Given the description of an element on the screen output the (x, y) to click on. 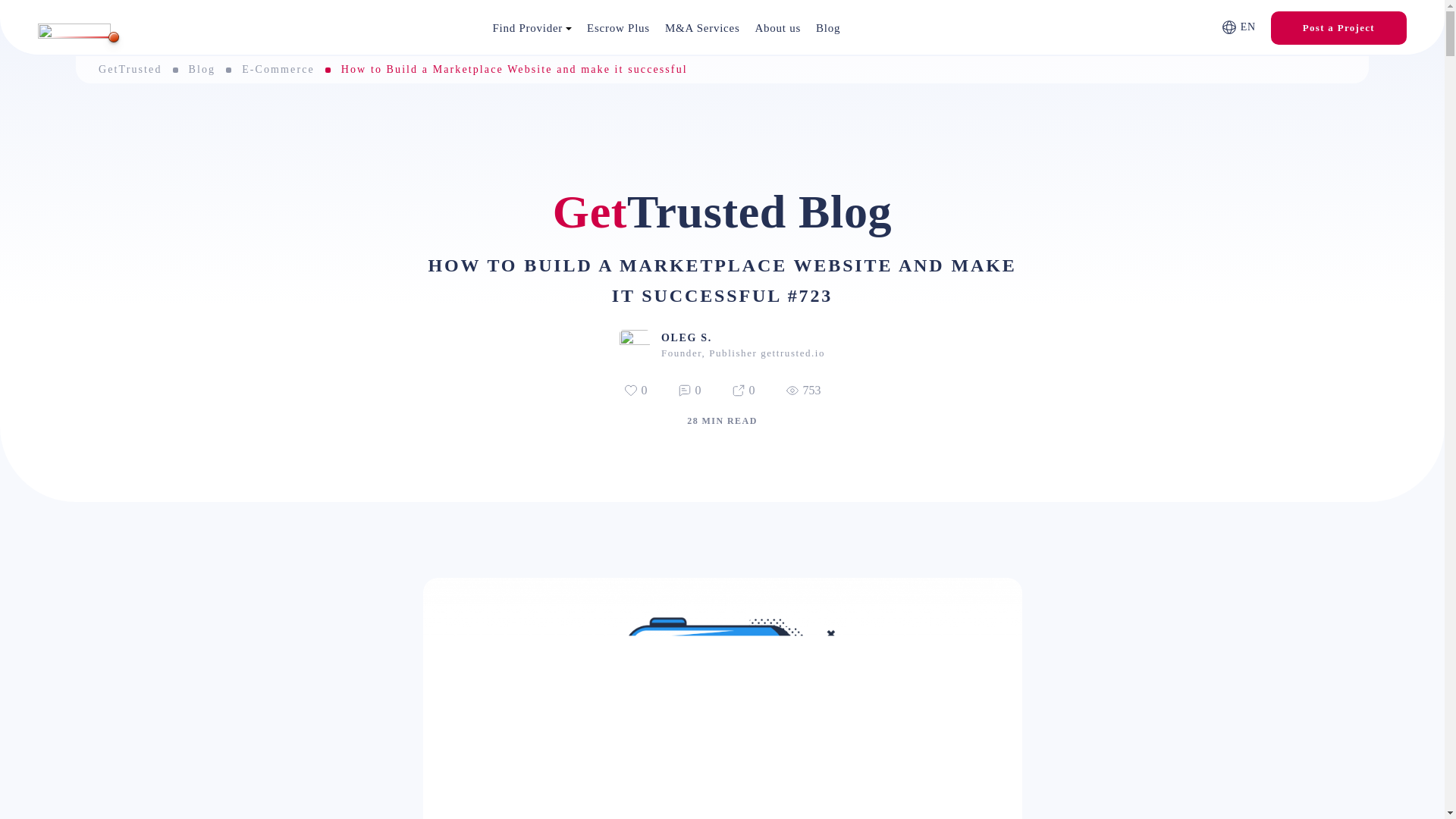
Find Provider (532, 28)
Go to Blog. (201, 69)
Go to the E-Commerce Category archives. (277, 69)
